Given the description of an element on the screen output the (x, y) to click on. 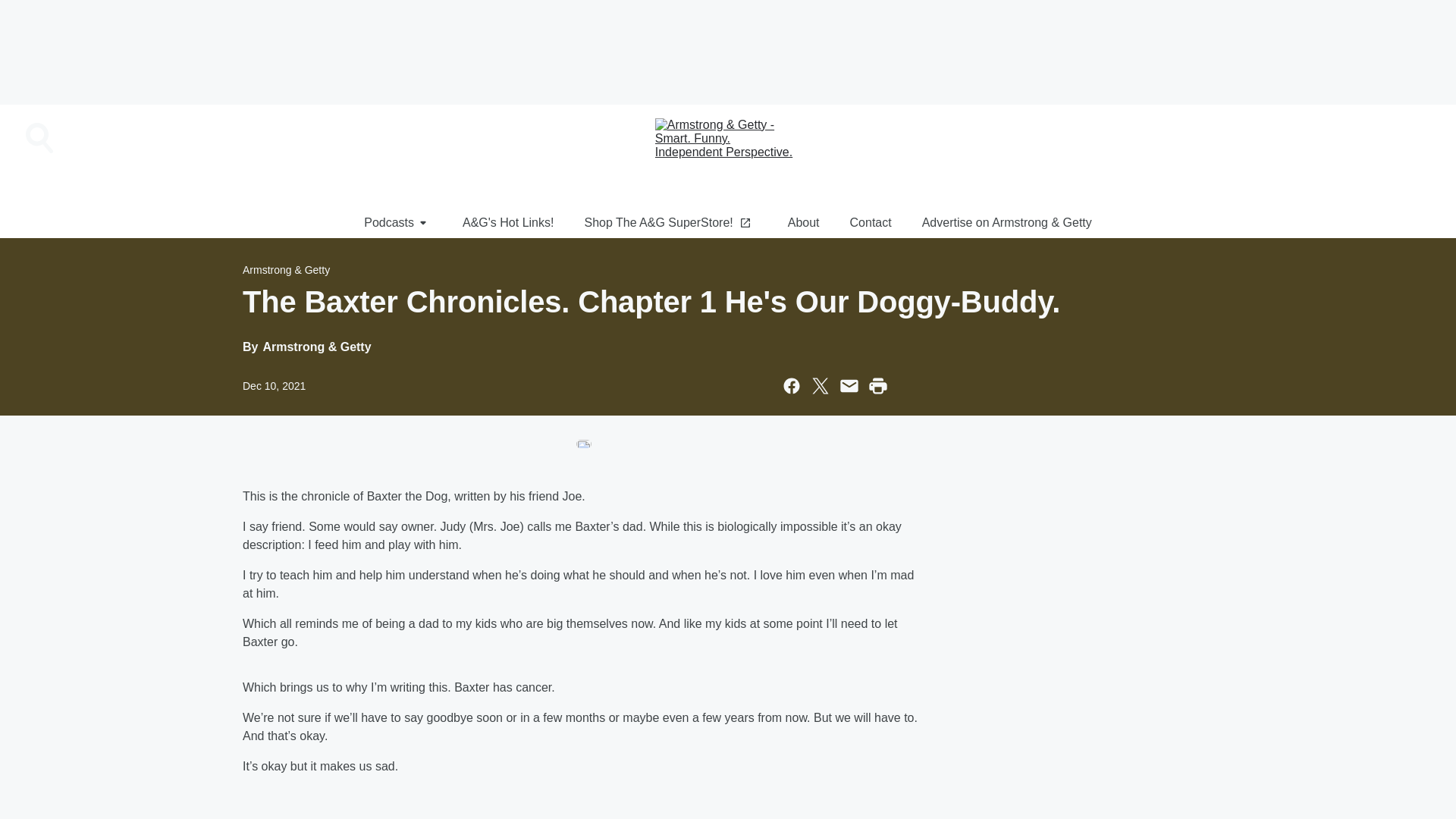
About (803, 223)
Podcasts (397, 223)
Contact (870, 223)
